Given the description of an element on the screen output the (x, y) to click on. 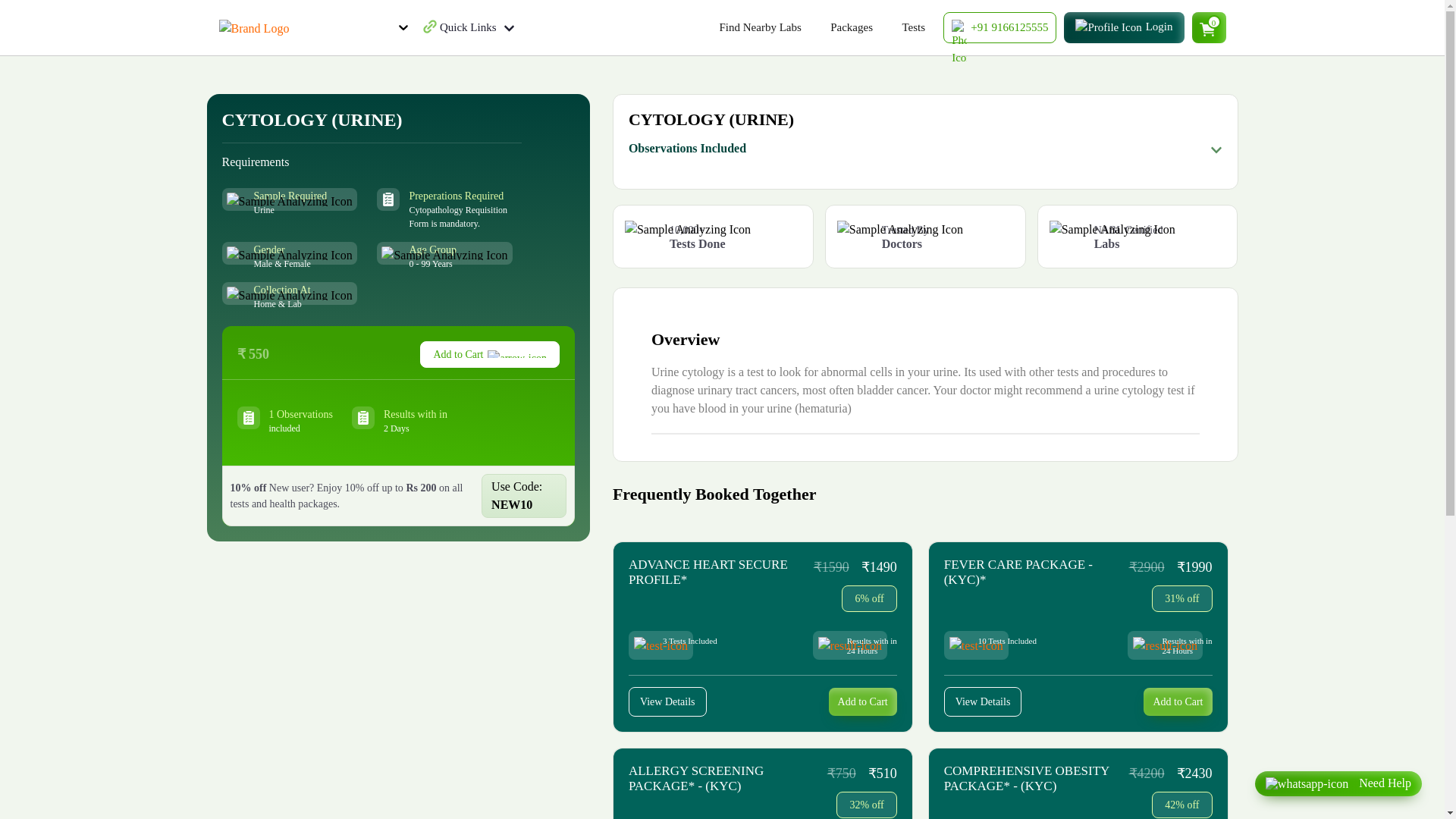
Quick Links (476, 26)
Login (1123, 27)
Find Nearby Labs (759, 26)
Tests (912, 26)
0 (1208, 27)
Packages (850, 26)
